Given the description of an element on the screen output the (x, y) to click on. 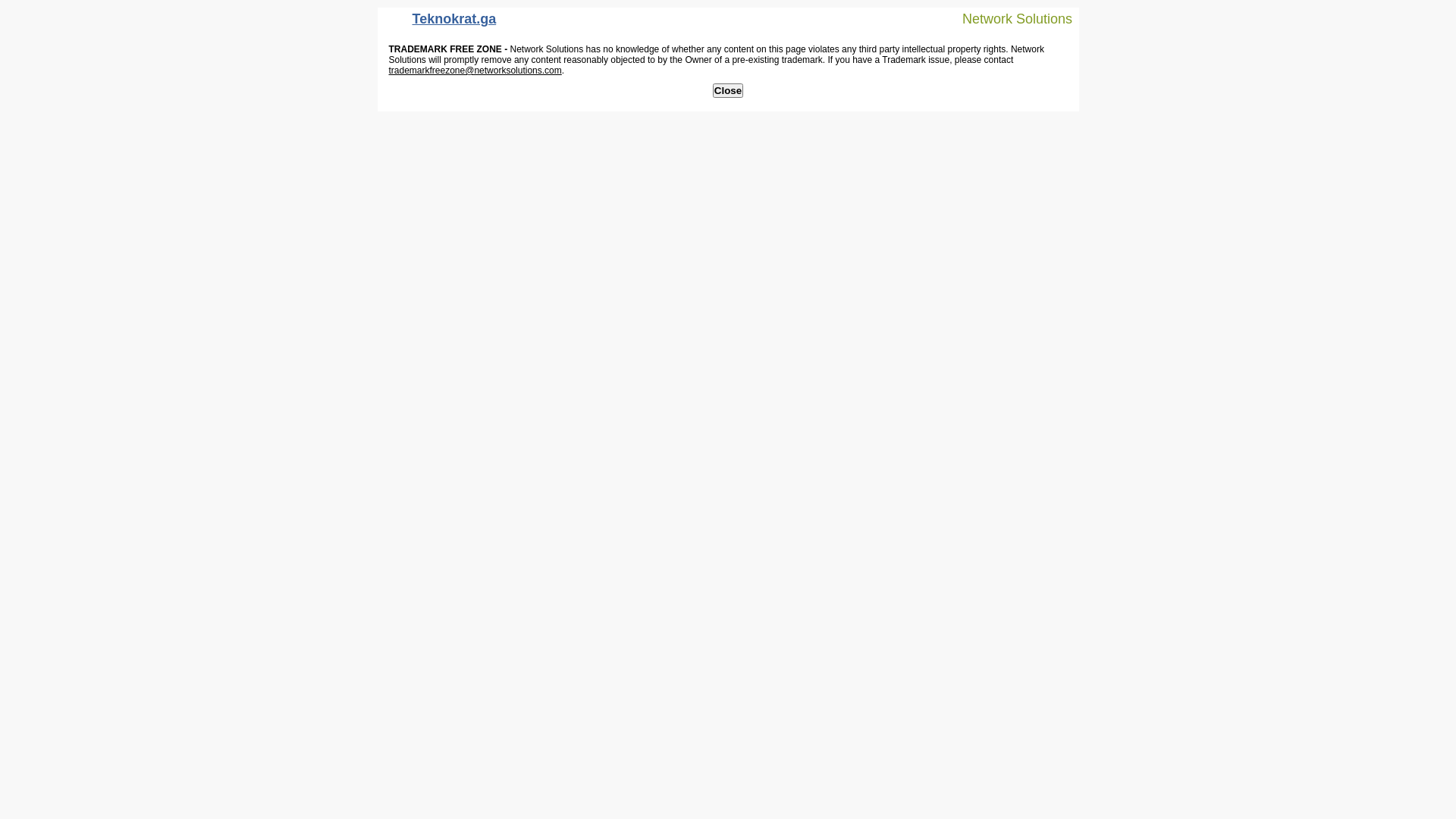
Close Element type: text (727, 90)
Teknokrat.ga Element type: text (440, 21)
Network Solutions Element type: text (1007, 17)
trademarkfreezone@networksolutions.com Element type: text (474, 70)
